Given the description of an element on the screen output the (x, y) to click on. 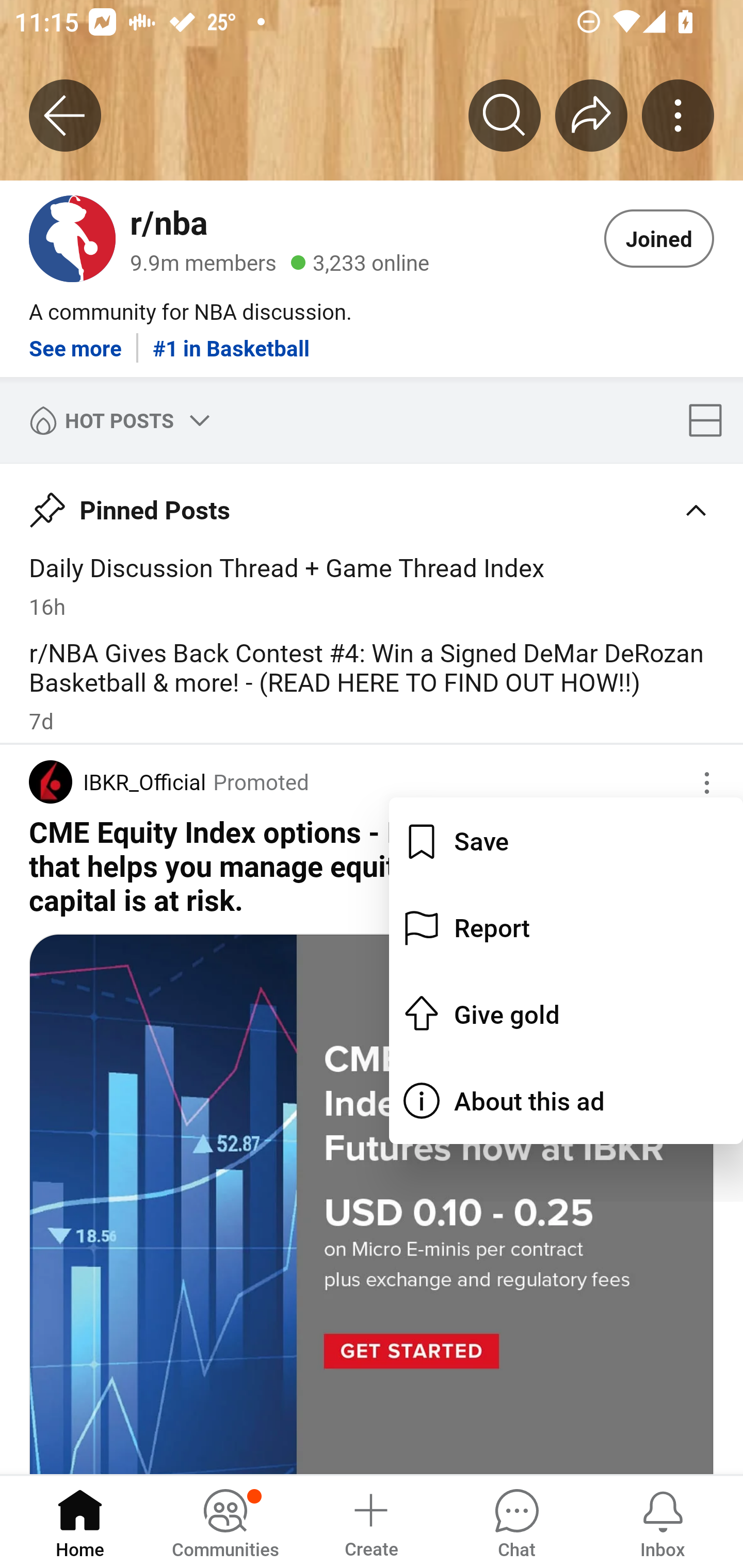
Save (566, 841)
Report (566, 927)
Give gold (566, 1013)
About this ad (566, 1100)
